Given the description of an element on the screen output the (x, y) to click on. 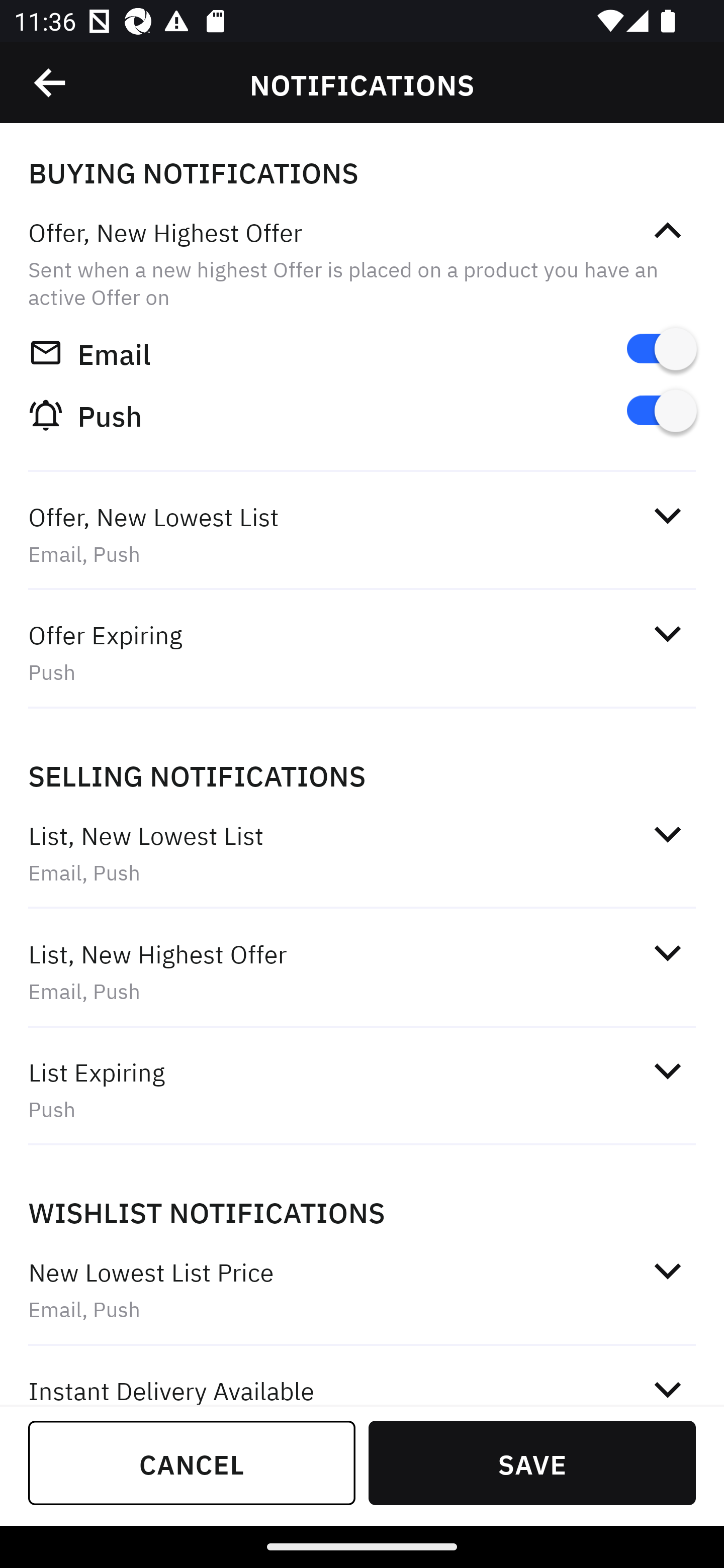
 (50, 83)
 (667, 231)
Offer, New Lowest List  Email, Push (361, 534)
 (667, 514)
Offer Expiring  Push (361, 652)
 (667, 633)
List, New Lowest List  Email, Push (361, 852)
 (667, 834)
List, New Highest Offer  Email, Push (361, 971)
 (667, 952)
List Expiring  Push (361, 1089)
 (667, 1070)
New Lowest List Price  Email, Push (361, 1290)
 (667, 1270)
Instant Delivery Available  (361, 1377)
 (667, 1385)
CANCEL (191, 1462)
SAVE (531, 1462)
